Given the description of an element on the screen output the (x, y) to click on. 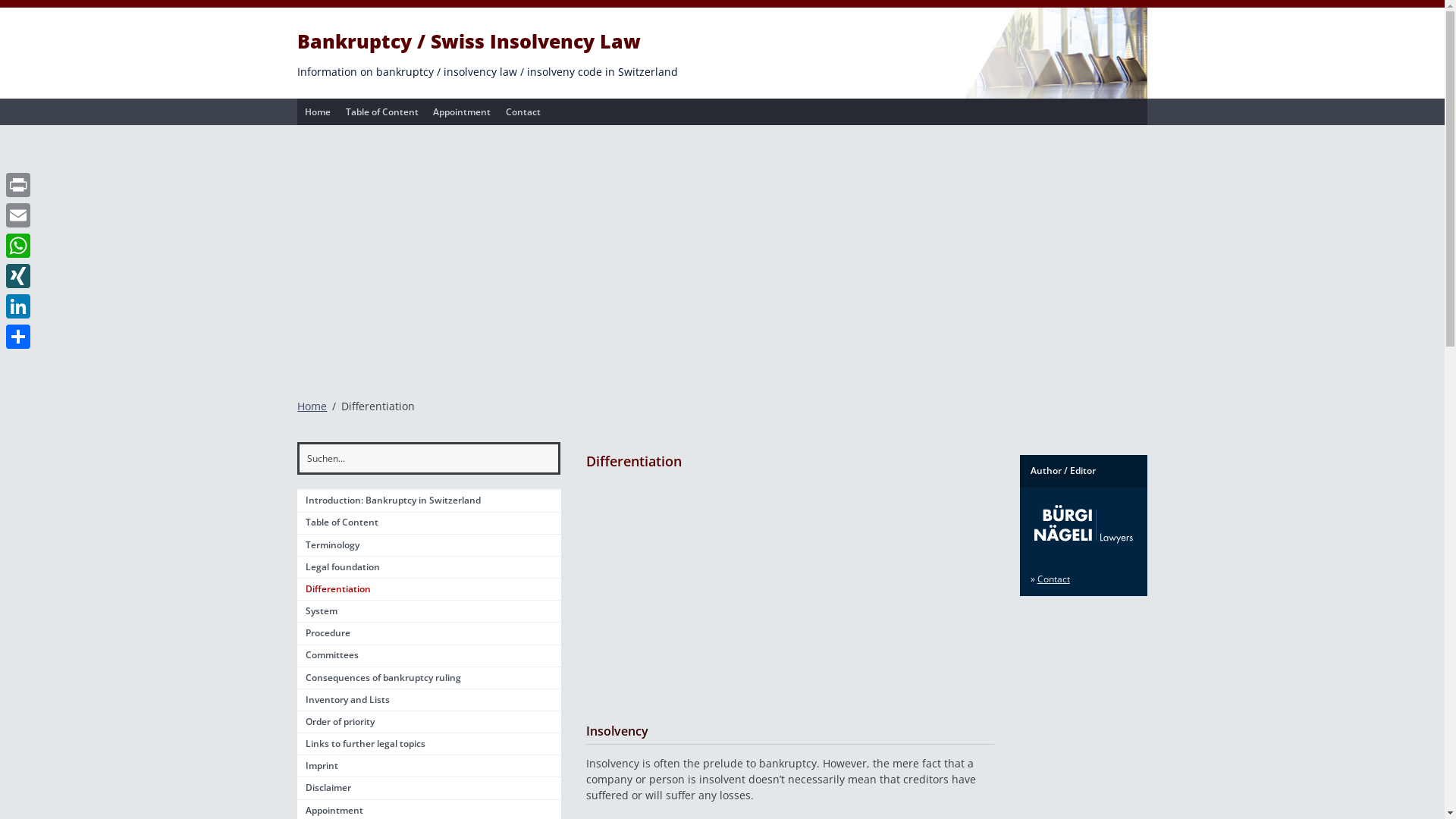
LinkedIn Element type: text (18, 306)
Differentiation Element type: text (428, 589)
Contact Element type: text (1053, 578)
Contact Element type: text (523, 111)
Appointment Element type: text (462, 111)
Terminology Element type: text (428, 545)
Inventory and Lists Element type: text (428, 700)
Advertisement Element type: hover (790, 595)
System Element type: text (428, 611)
Bankruptcy / Swiss Insolvency Law Element type: text (468, 40)
Links to further legal topics Element type: text (428, 744)
Legal foundation Element type: text (428, 567)
Advertisement Element type: hover (722, 253)
Committees Element type: text (428, 656)
Print Element type: text (18, 184)
Order of priority Element type: text (428, 722)
Home Element type: text (317, 111)
Email Element type: text (18, 215)
WhatsApp Element type: text (18, 245)
Imprint Element type: text (428, 766)
Consequences of bankruptcy ruling Element type: text (428, 678)
Disclaimer Element type: text (428, 788)
Procedure Element type: text (428, 633)
Share Element type: text (18, 336)
XING Element type: text (18, 275)
Introduction: Bankruptcy in Switzerland Element type: text (428, 500)
Table of Content Element type: text (382, 111)
Home Element type: text (311, 405)
Table of Content Element type: text (428, 523)
